Given the description of an element on the screen output the (x, y) to click on. 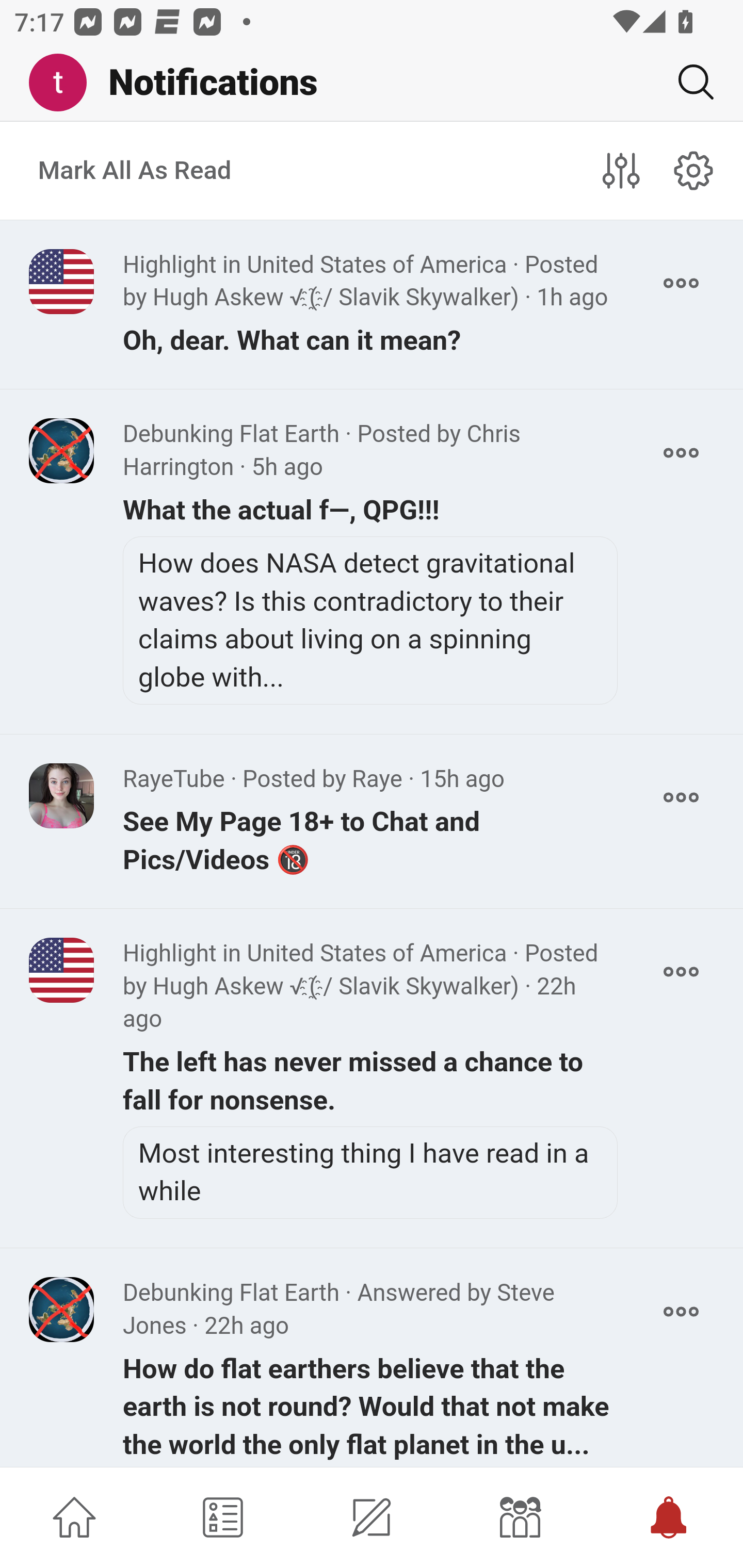
Me Notifications Search (371, 82)
Me (64, 83)
Search (688, 82)
Mark All As Read (135, 171)
notifications# (693, 170)
More (681, 282)
More (681, 452)
More (681, 797)
More (681, 972)
More (681, 1311)
